Given the description of an element on the screen output the (x, y) to click on. 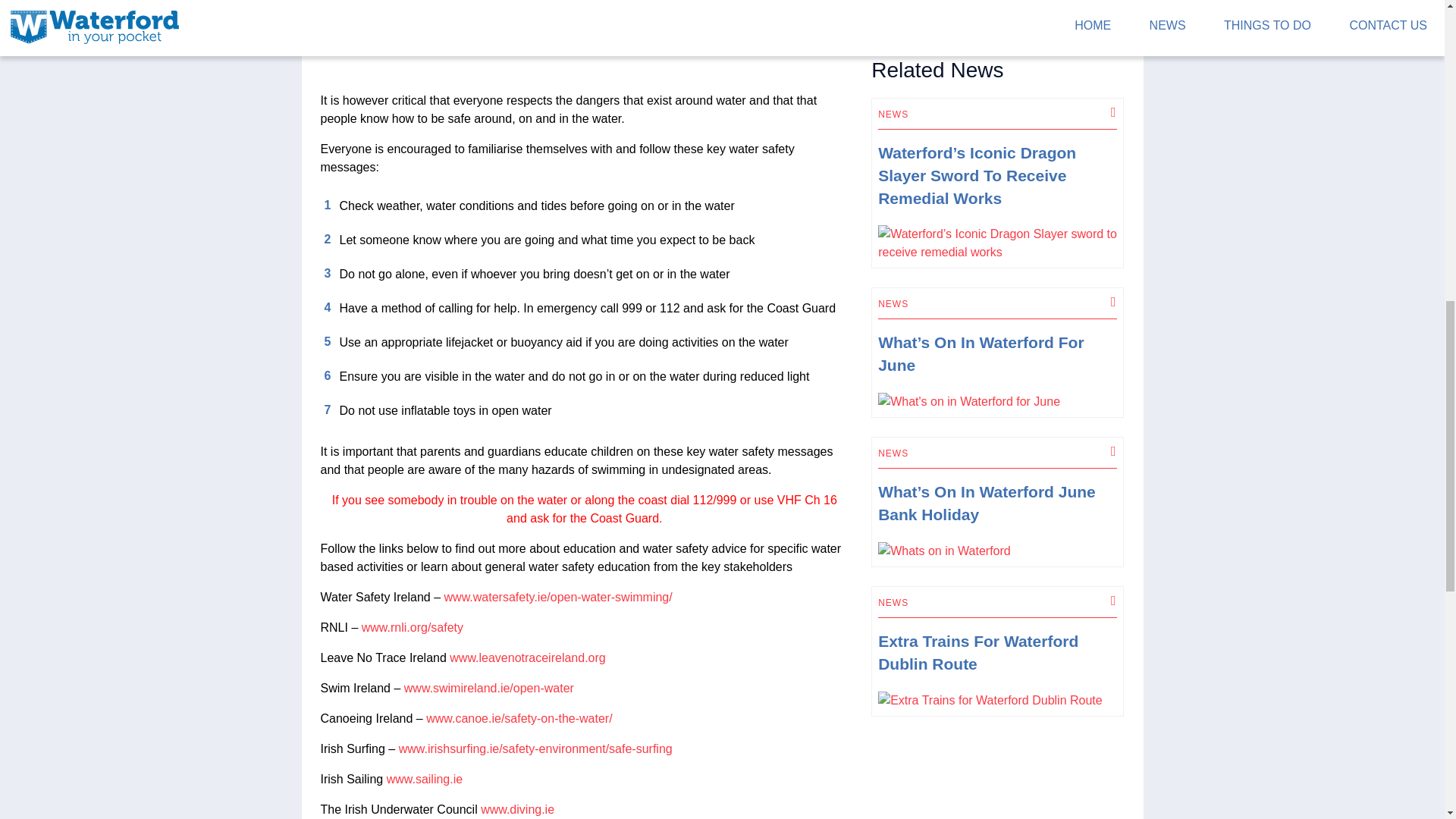
NEWS (892, 303)
NEWS (892, 602)
www.sailing.ie (425, 779)
NEWS (892, 113)
www.diving.ie (517, 809)
NEWS (892, 452)
www.leavenotraceireland.org (527, 657)
